Given the description of an element on the screen output the (x, y) to click on. 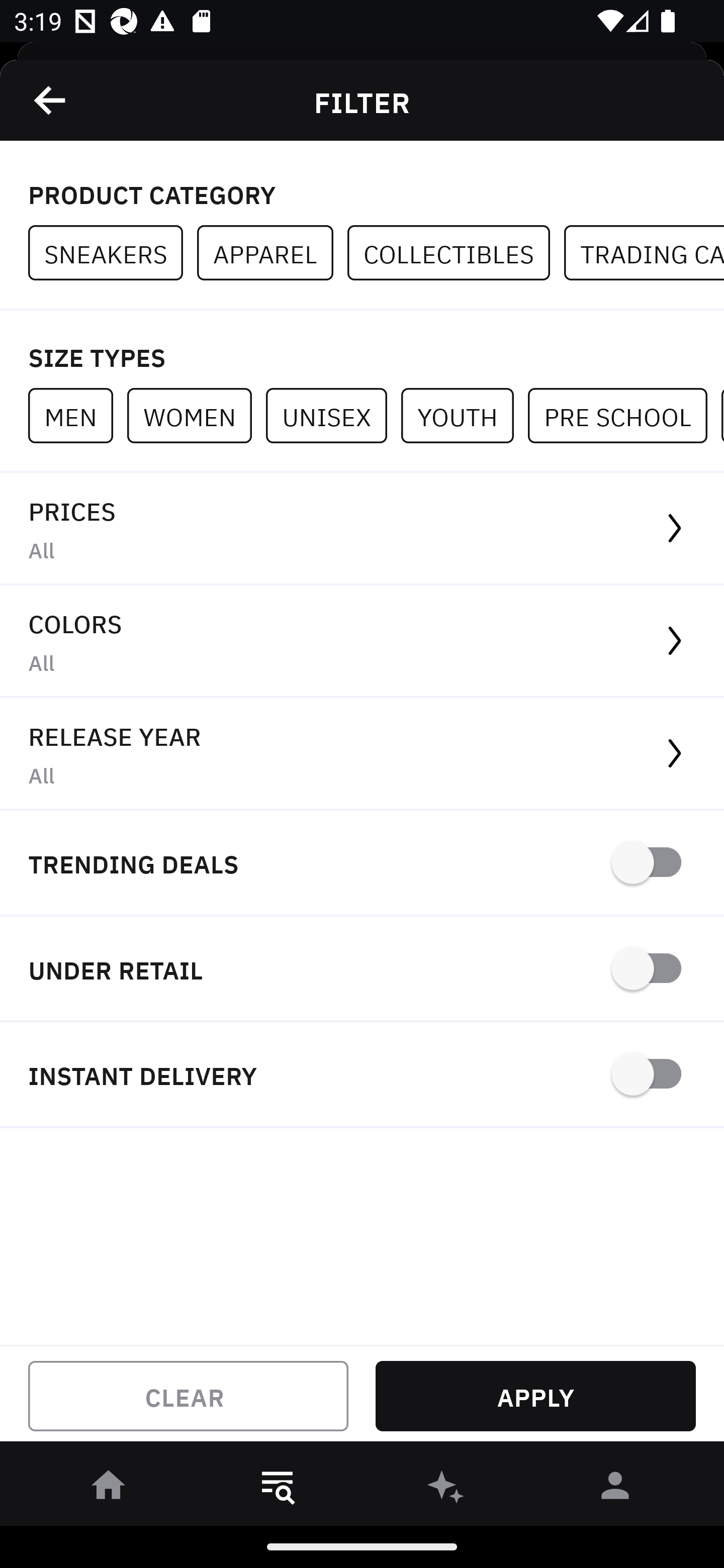
 (50, 100)
SNEAKERS (112, 252)
APPAREL (271, 252)
COLLECTIBLES (455, 252)
TRADING CARDS (643, 252)
MEN (77, 415)
WOMEN (196, 415)
UNISEX (333, 415)
YOUTH (464, 415)
PRE SCHOOL (624, 415)
PRICES All (362, 528)
COLORS All (362, 640)
RELEASE YEAR All (362, 753)
TRENDING DEALS (362, 863)
UNDER RETAIL (362, 969)
INSTANT DELIVERY (362, 1075)
CLEAR  (188, 1396)
APPLY (535, 1396)
󰋜 (108, 1488)
󱎸 (277, 1488)
󰫢 (446, 1488)
󰀄 (615, 1488)
